Given the description of an element on the screen output the (x, y) to click on. 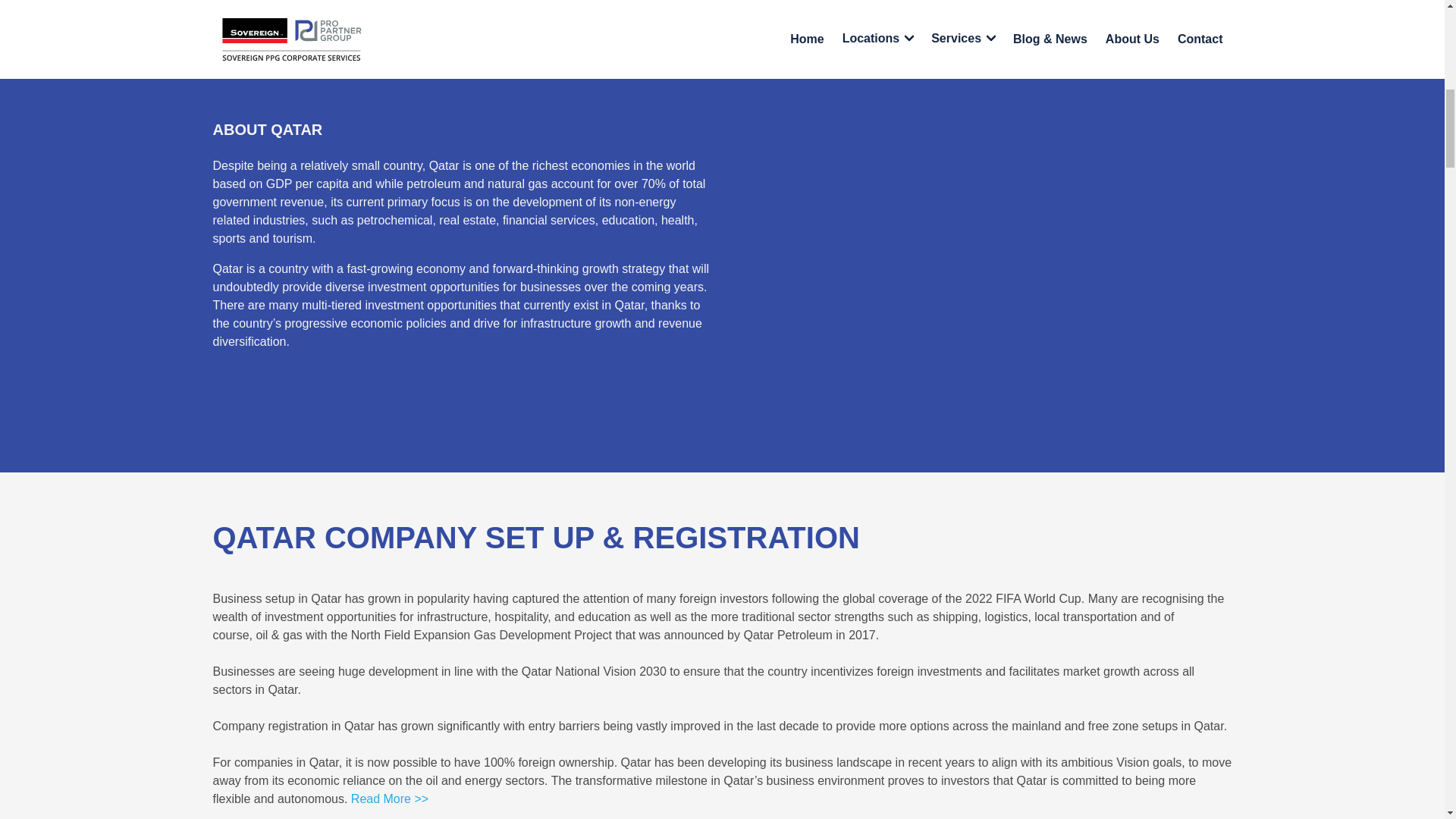
click here (1103, 6)
